Given the description of an element on the screen output the (x, y) to click on. 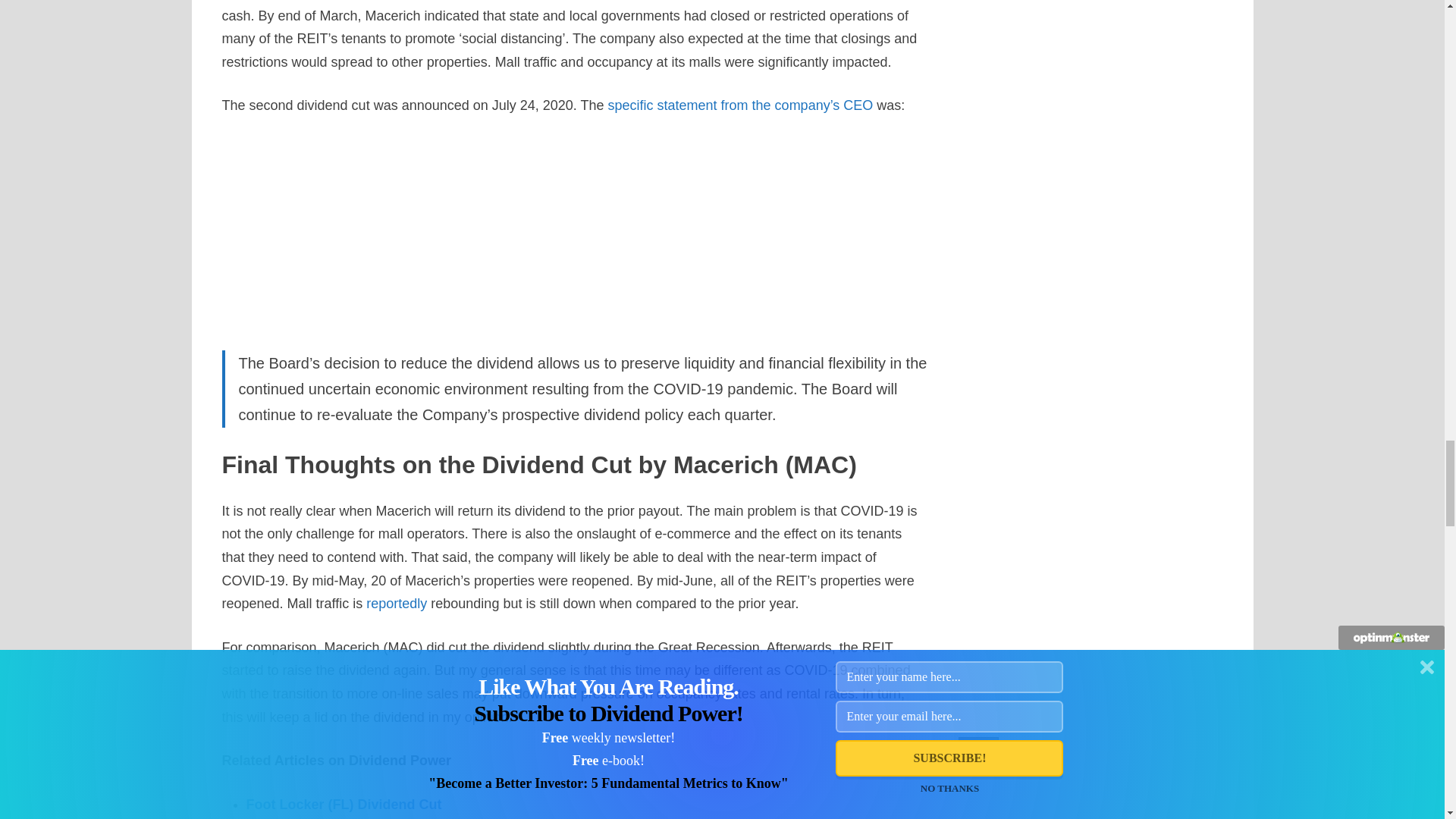
3rd party ad content (454, 232)
3rd party ad content (693, 232)
